Given the description of an element on the screen output the (x, y) to click on. 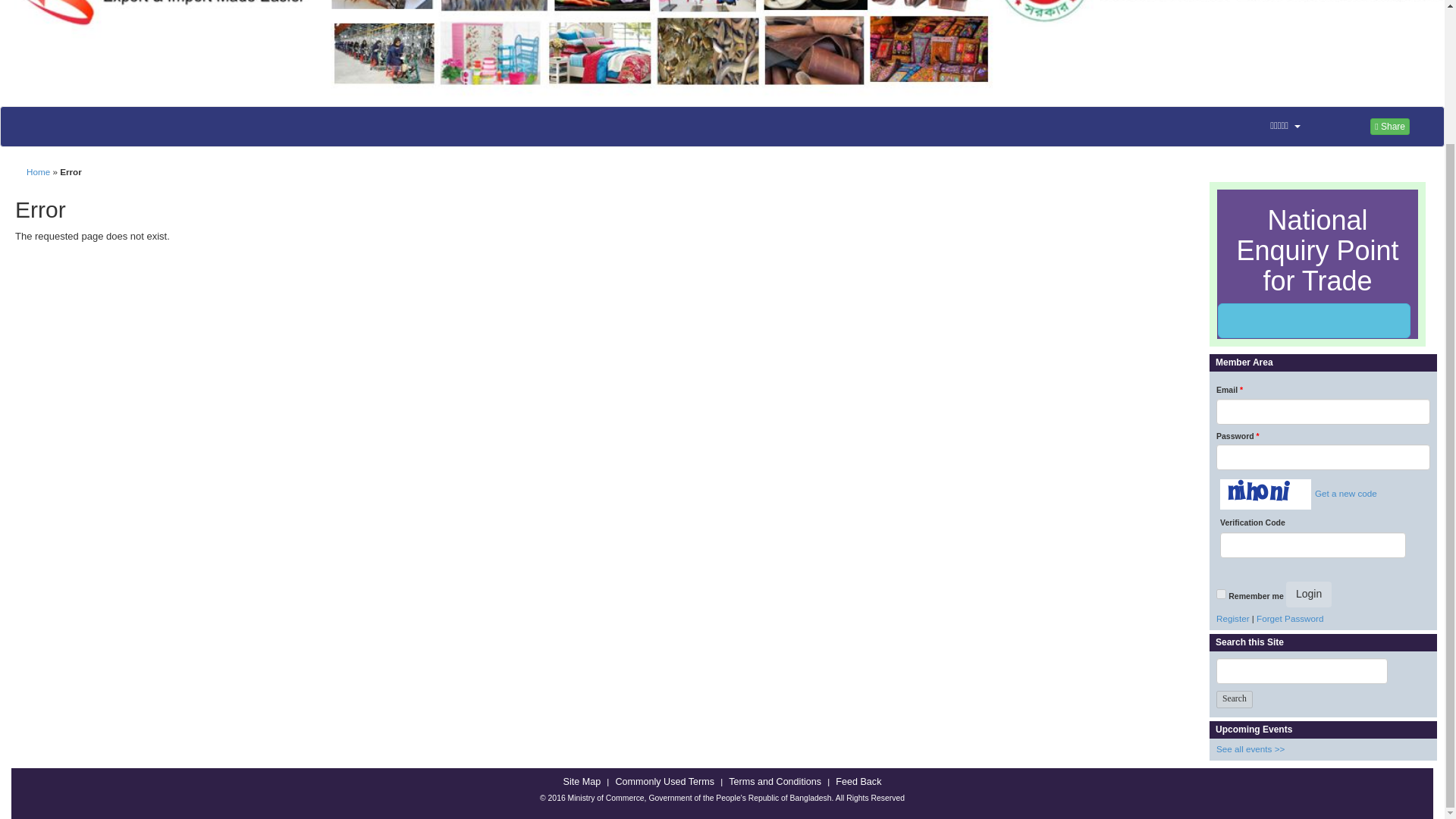
Site Map (582, 782)
Terms and Conditions (775, 782)
Register (1232, 618)
1 (1220, 593)
Commonly Used Terms (664, 782)
Click here to submit query (1313, 320)
Search (1233, 699)
Login (1308, 594)
Search (1233, 699)
Forget Password (1289, 618)
Login (1308, 594)
Home (37, 171)
Get a new code (1344, 492)
Share (1389, 126)
Feed Back (858, 782)
